Given the description of an element on the screen output the (x, y) to click on. 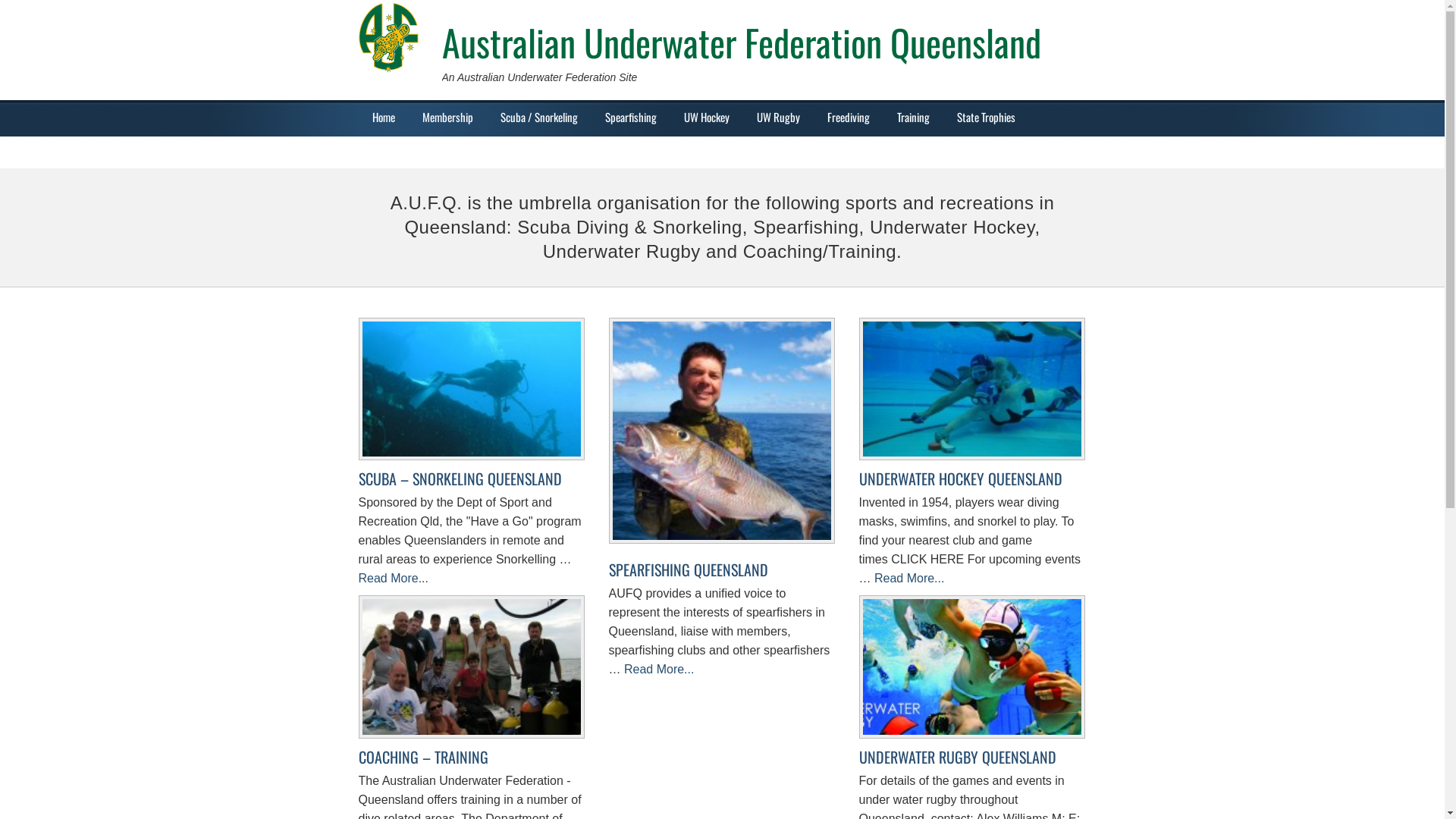
Read More... Element type: text (909, 577)
Scuba / Snorkeling Element type: text (538, 117)
State Trophies Element type: text (986, 117)
My account Element type: text (619, 151)
Membership Element type: text (446, 117)
Read More... Element type: text (658, 668)
Home Element type: text (382, 117)
SPEARFISHING QUEENSLAND Element type: text (687, 569)
Spearfishing Element type: text (630, 117)
Training Element type: text (912, 117)
UNDERWATER RUGBY QUEENSLAND Element type: text (956, 756)
UW Hockey Element type: text (706, 117)
Cart Element type: text (492, 151)
Contacts Element type: text (389, 151)
Australian Underwater Federation Queensland Element type: text (740, 42)
Freediving Events Calendar Element type: text (725, 151)
Freediving Element type: text (847, 117)
UW Rugby Element type: text (778, 117)
Shop Element type: text (446, 151)
Read More... Element type: text (392, 577)
UNDERWATER HOCKEY QUEENSLAND Element type: text (959, 478)
Checkout Element type: text (548, 151)
